Given the description of an element on the screen output the (x, y) to click on. 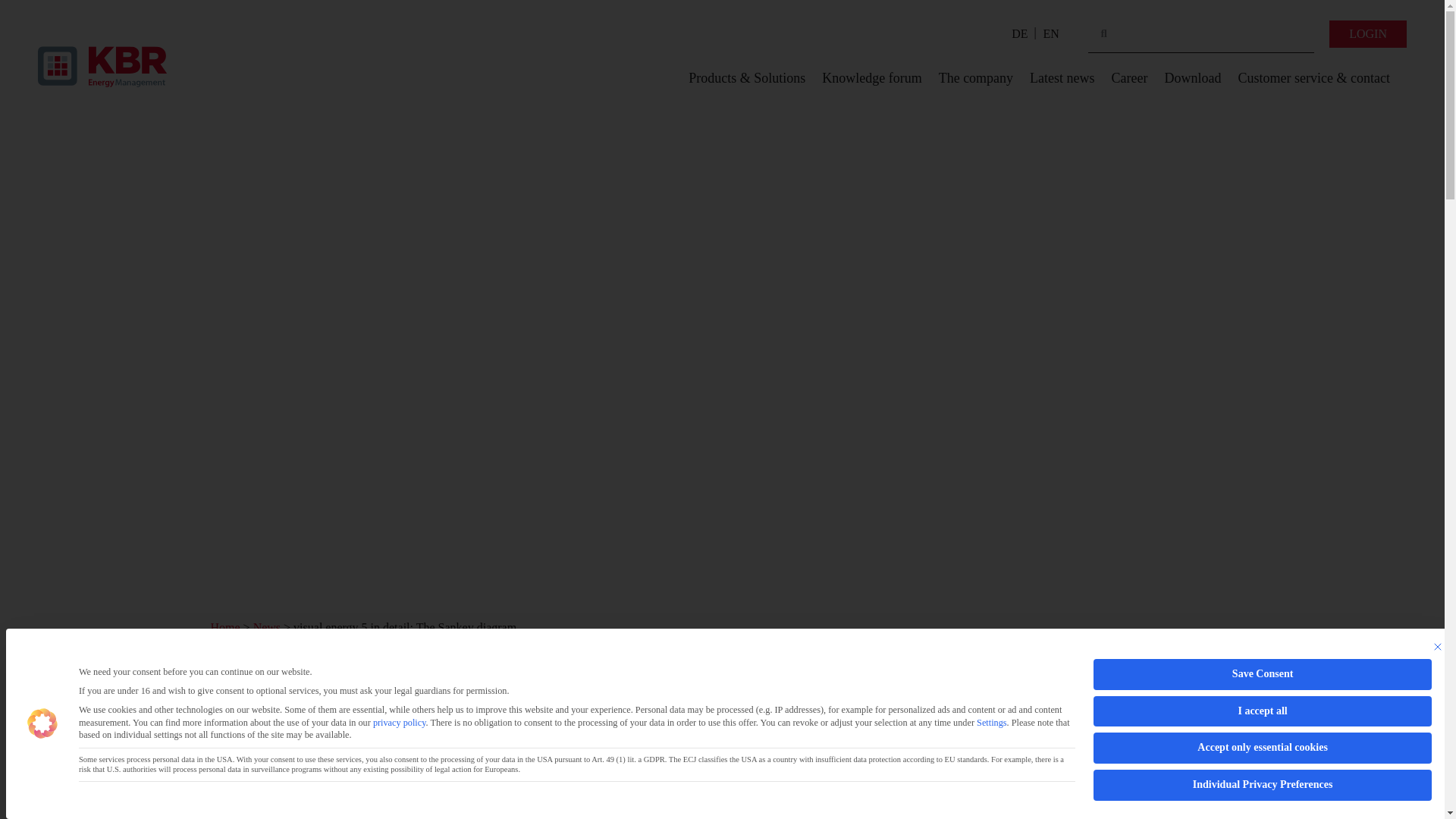
EN (1051, 34)
Career (1130, 77)
DE (1019, 34)
LOGIN (1367, 33)
Download (1192, 77)
Latest news (1061, 77)
Knowledge forum (871, 77)
The company (976, 77)
